Given the description of an element on the screen output the (x, y) to click on. 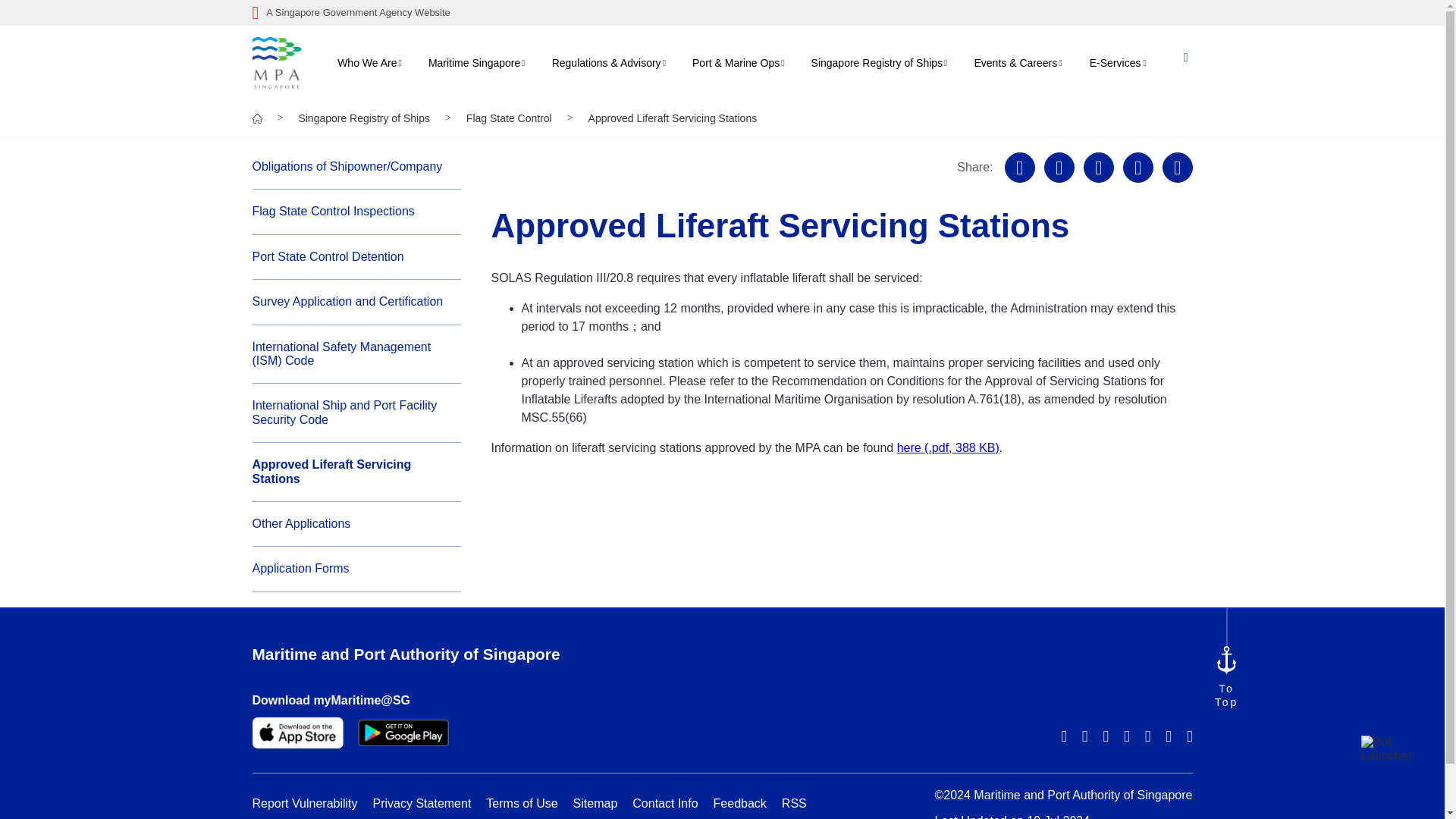
To Top (1225, 677)
Who We Are (366, 62)
Maritime Singapore (473, 62)
A Singapore Government Agency Website (721, 13)
